Given the description of an element on the screen output the (x, y) to click on. 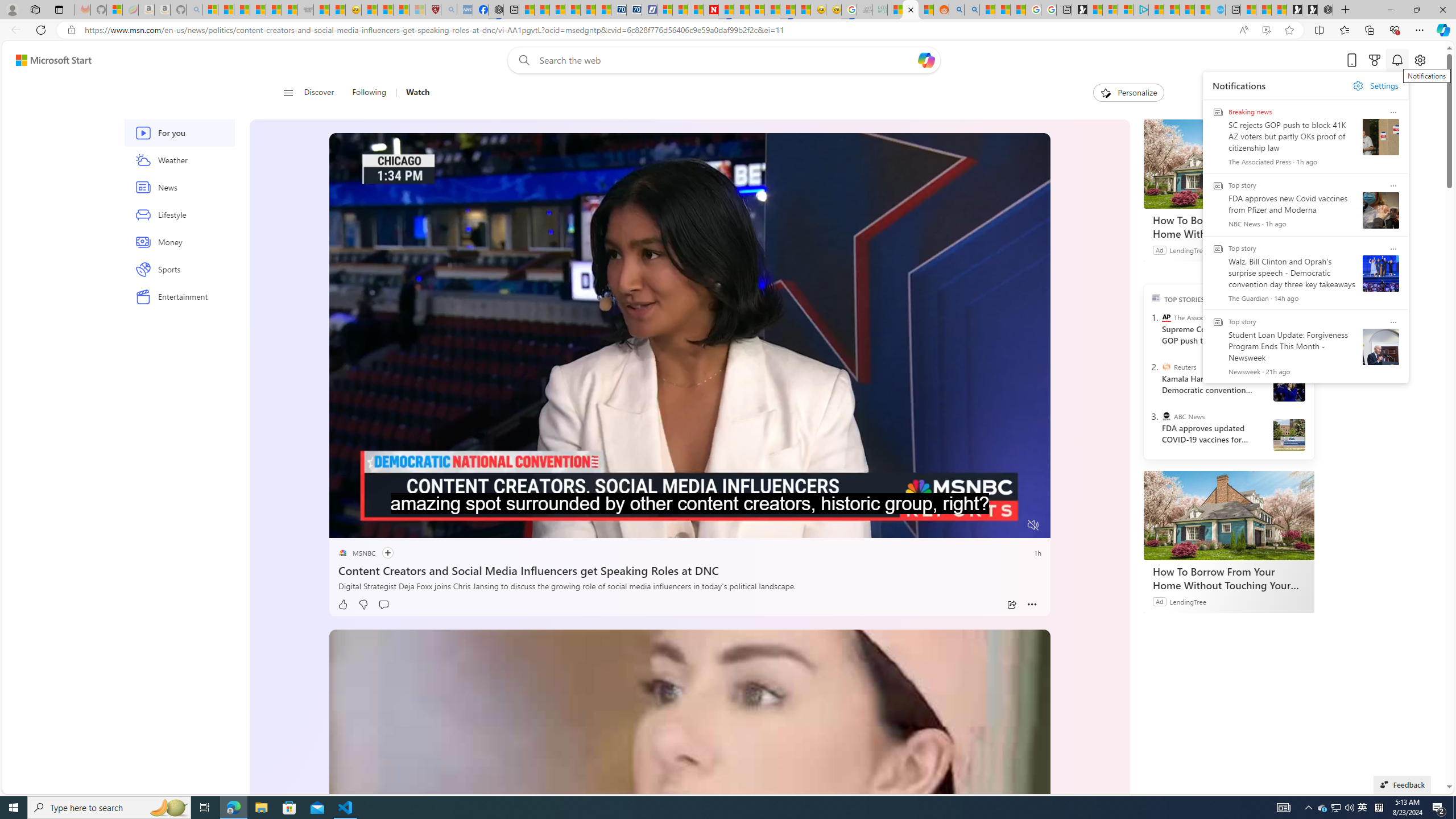
Open settings (1420, 60)
LendingTree (1188, 601)
Enter your search term (726, 59)
Seek Back (368, 525)
Class: button-glyph (287, 92)
